Given the description of an element on the screen output the (x, y) to click on. 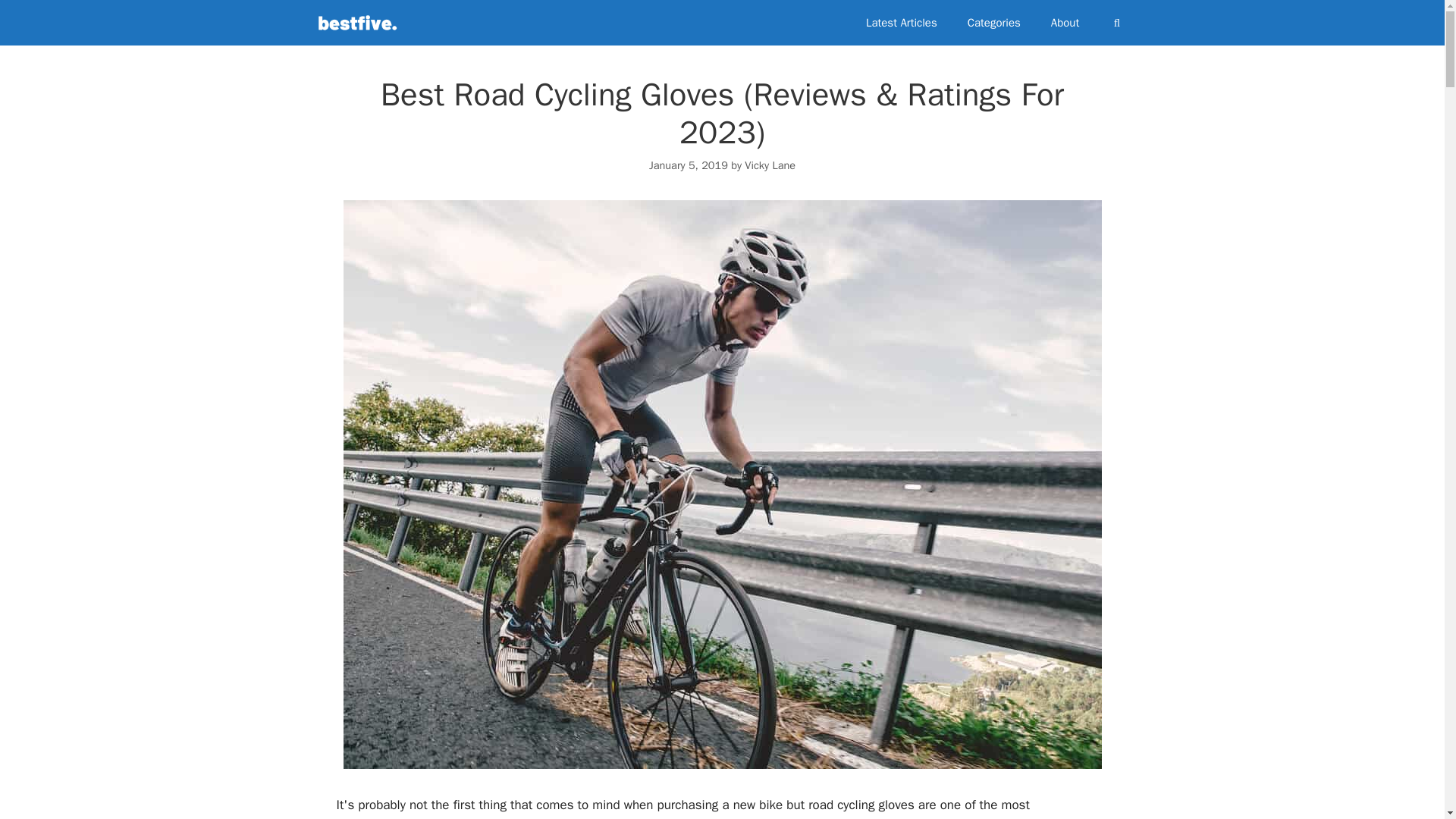
Best Five (356, 22)
View all posts by Vicky Lane (769, 164)
Vicky Lane (769, 164)
Categories (993, 22)
About (1064, 22)
Latest Articles (901, 22)
Best Five (360, 22)
